Given the description of an element on the screen output the (x, y) to click on. 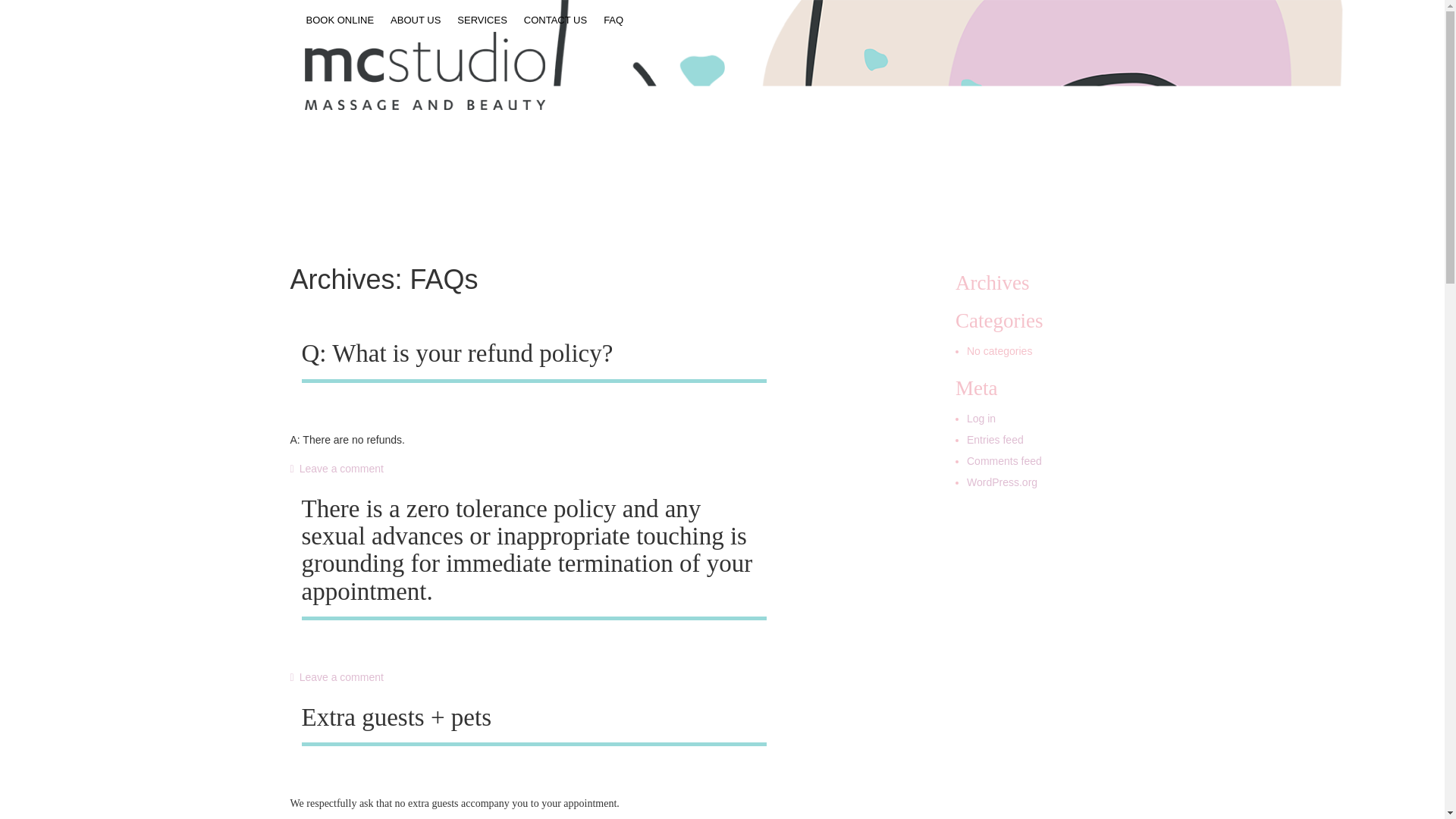
FAQ (612, 19)
WordPress.org (1001, 481)
SERVICES (482, 19)
Entries feed (994, 439)
Q: What is your refund policy? (456, 352)
CONTACT US (555, 19)
ABOUT US (415, 19)
Leave a comment (335, 468)
Log in (980, 418)
